Given the description of an element on the screen output the (x, y) to click on. 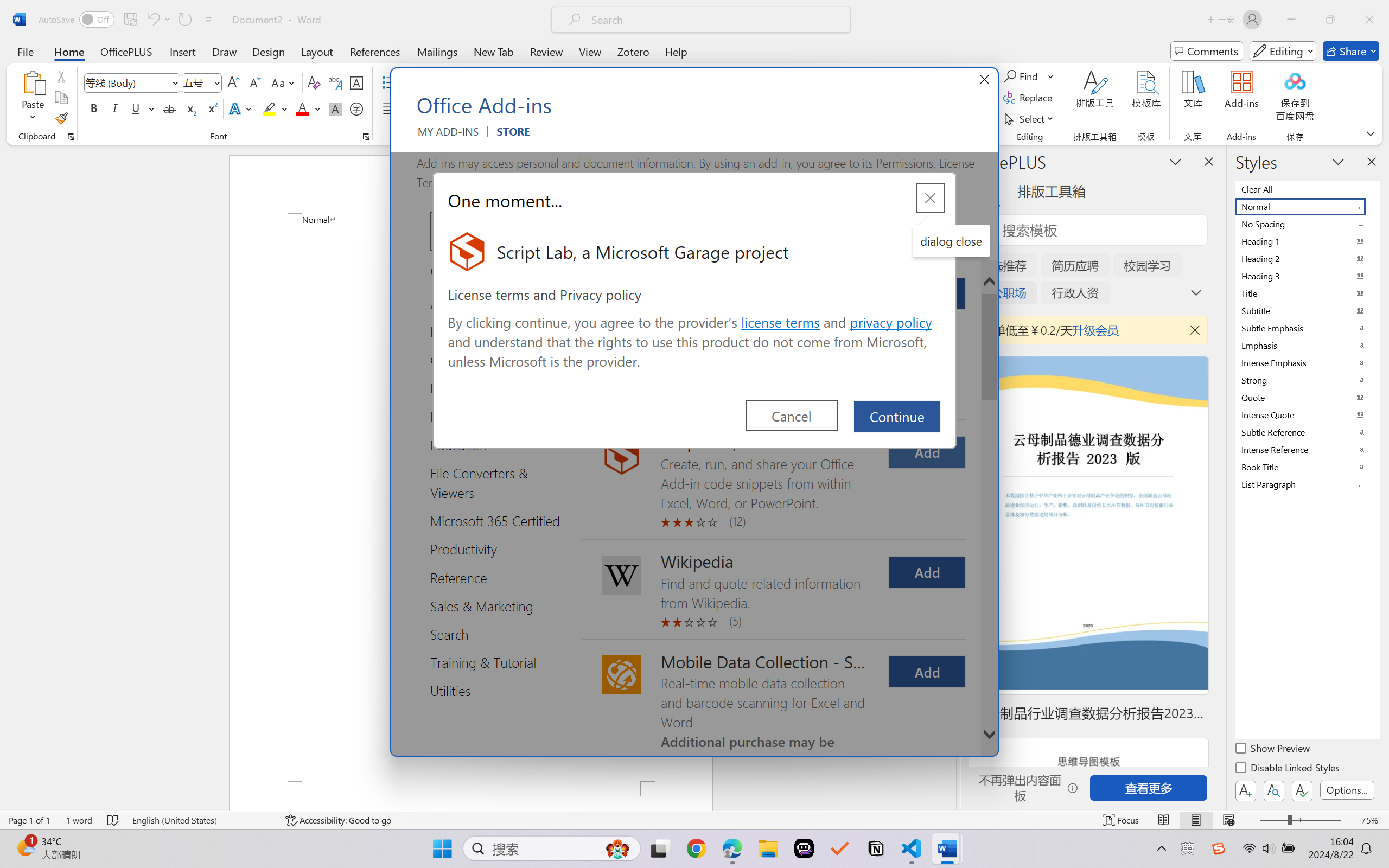
Emphasis (1306, 345)
Clear All (1306, 188)
Paste (33, 97)
Title (1306, 293)
Layout (316, 51)
Page Number Page 1 of 1 (29, 819)
Show Preview (1273, 749)
AutoSave (76, 19)
